Given the description of an element on the screen output the (x, y) to click on. 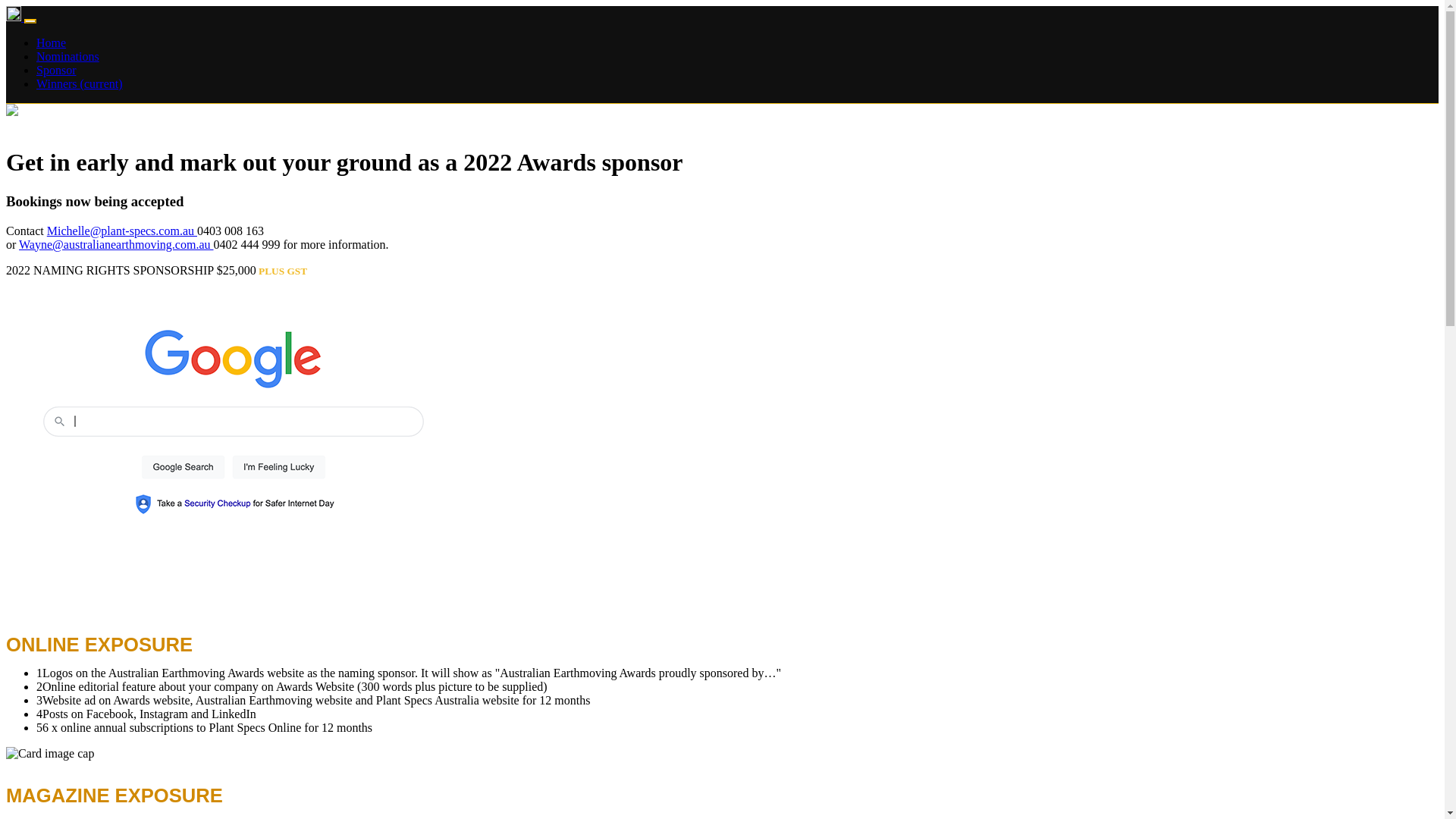
Sponsor Element type: text (55, 69)
Home Element type: text (50, 42)
Winners (current) Element type: text (79, 83)
Nominations Element type: text (67, 56)
Wayne@australianearthmoving.com.au Element type: text (115, 244)
Michelle@plant-specs.com.au Element type: text (122, 230)
